Given the description of an element on the screen output the (x, y) to click on. 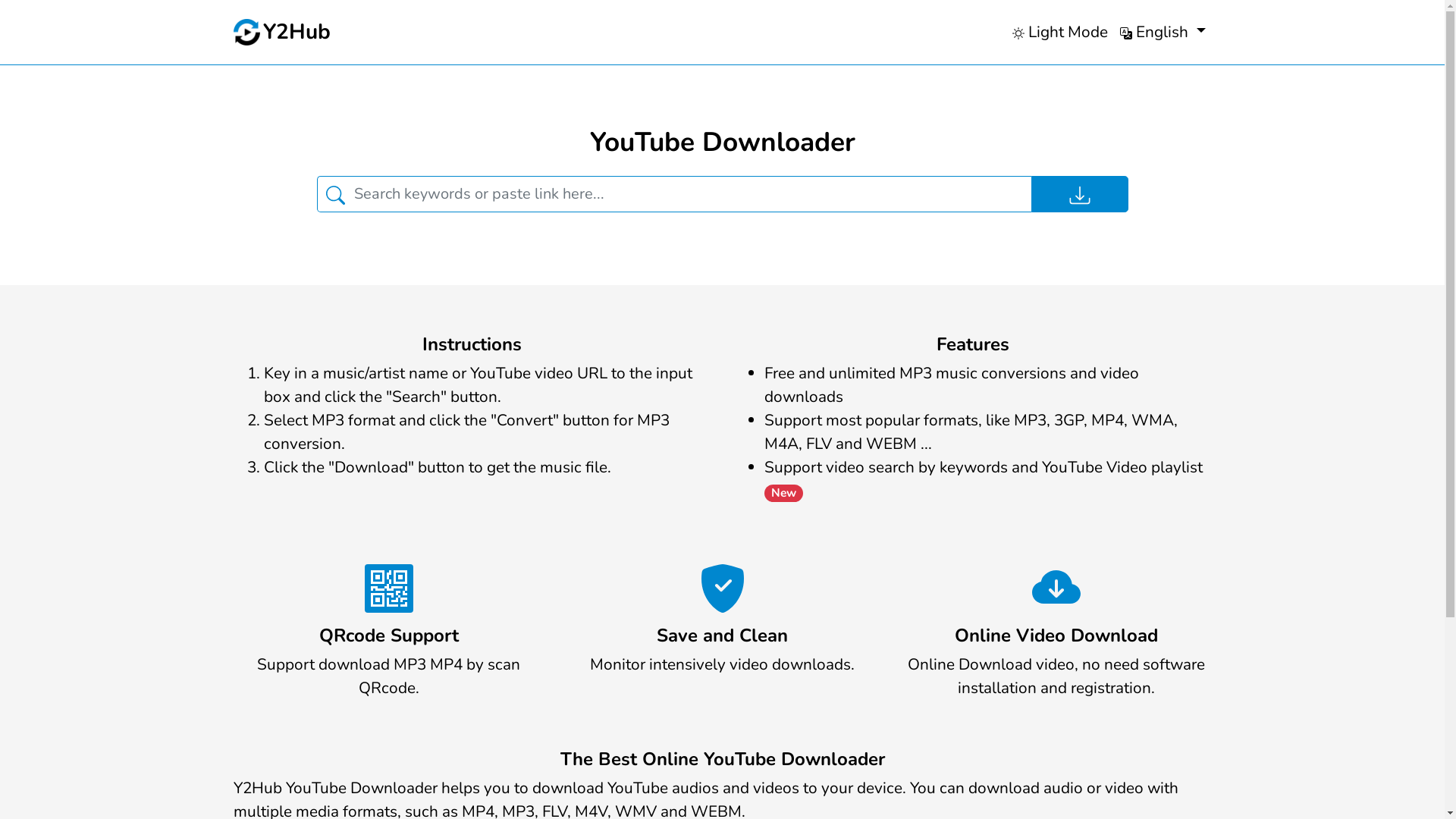
Light Mode Element type: text (1059, 32)
Y2Hub Element type: text (281, 32)
English Element type: text (1162, 32)
